Given the description of an element on the screen output the (x, y) to click on. 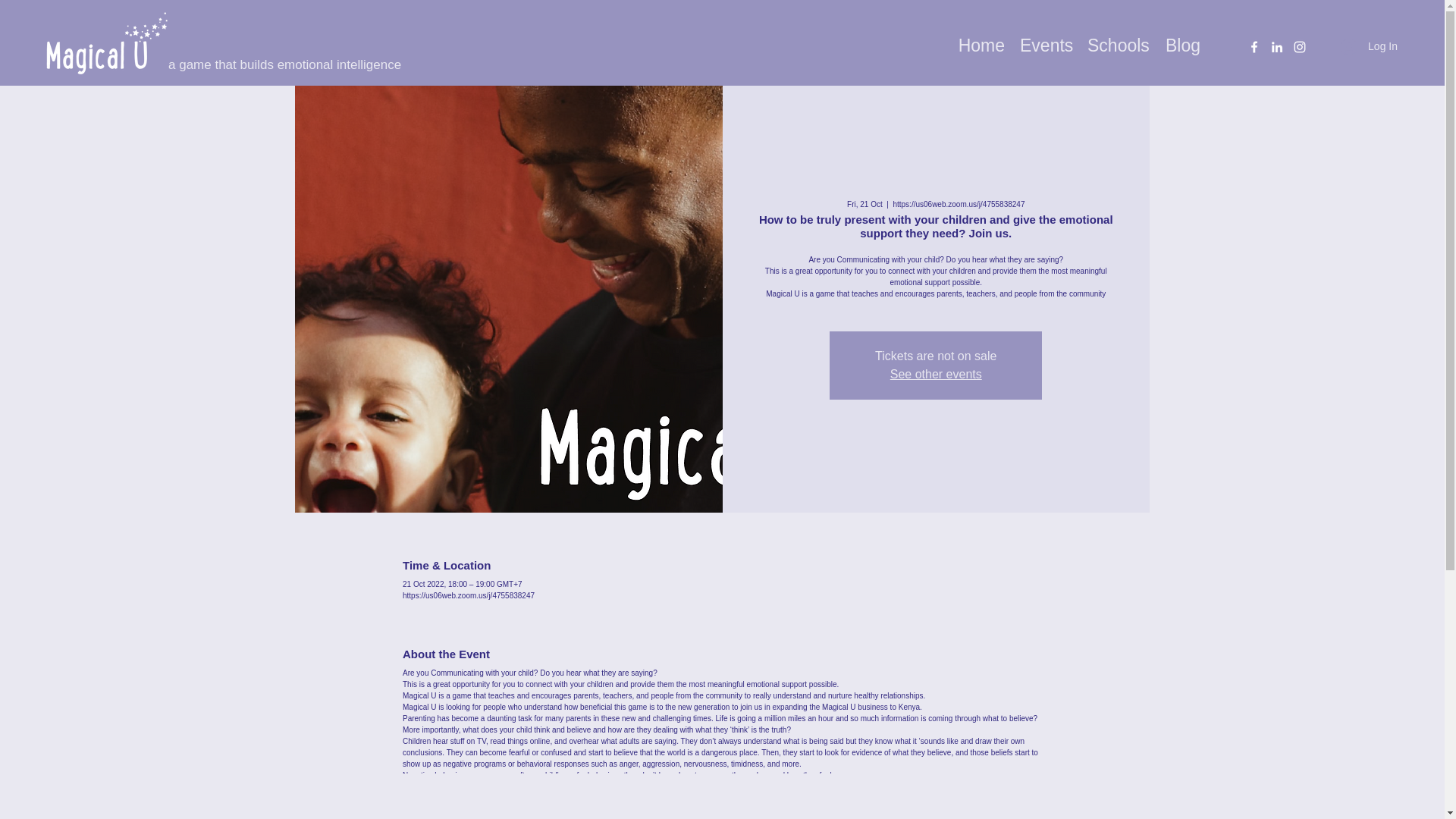
Home (980, 41)
Log In (1368, 46)
Schools (1118, 41)
Blog (1182, 41)
See other events (935, 373)
Events (1045, 41)
